Given the description of an element on the screen output the (x, y) to click on. 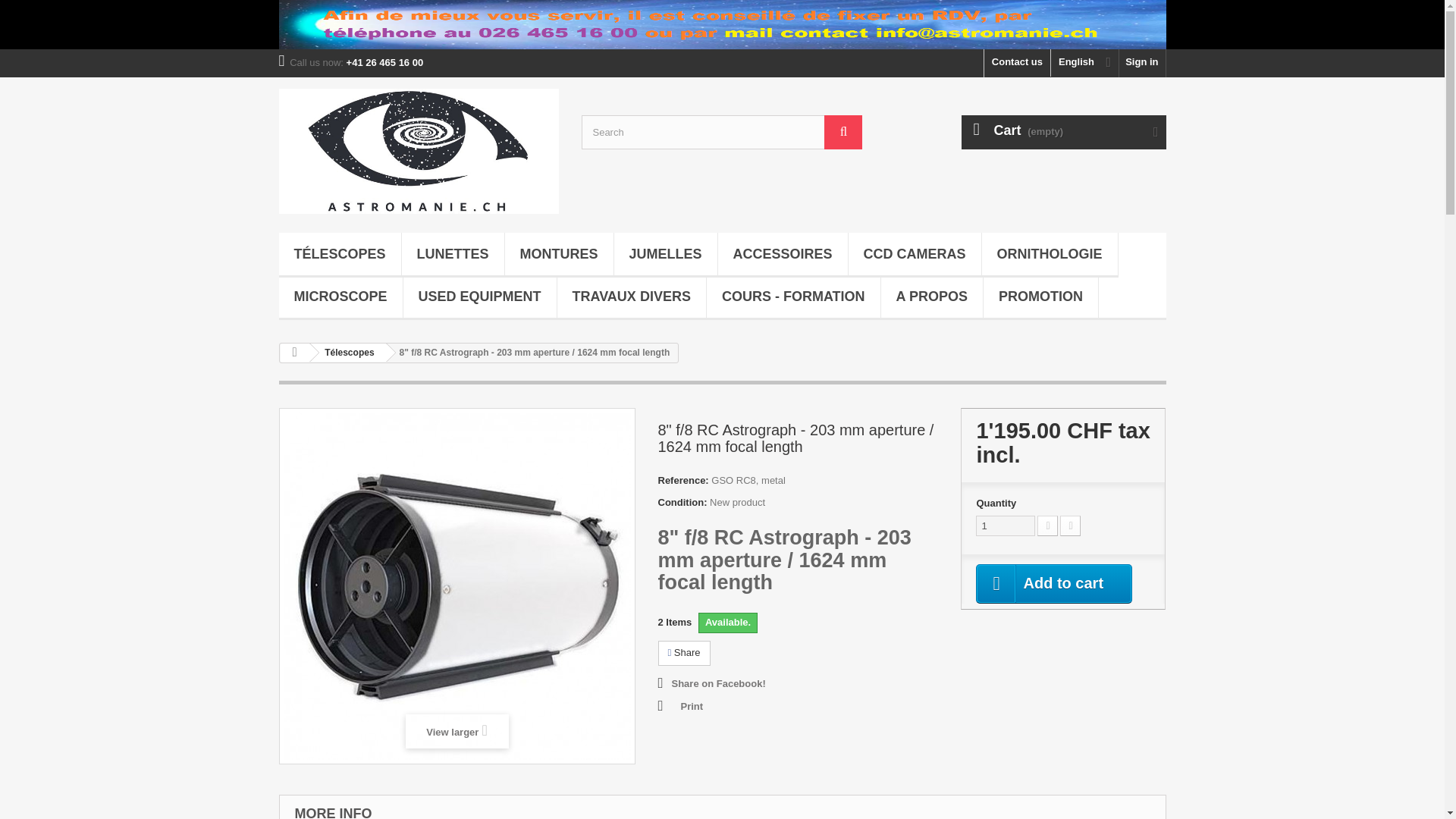
MONTURES (558, 254)
View my shopping cart (1063, 132)
Astromanie (419, 150)
LUNETTES (452, 254)
Contact us (1016, 62)
1 (1005, 525)
Sign in (1141, 62)
JUMELLES (665, 254)
Contact us (1016, 62)
Log in to your customer account (1141, 62)
